Given the description of an element on the screen output the (x, y) to click on. 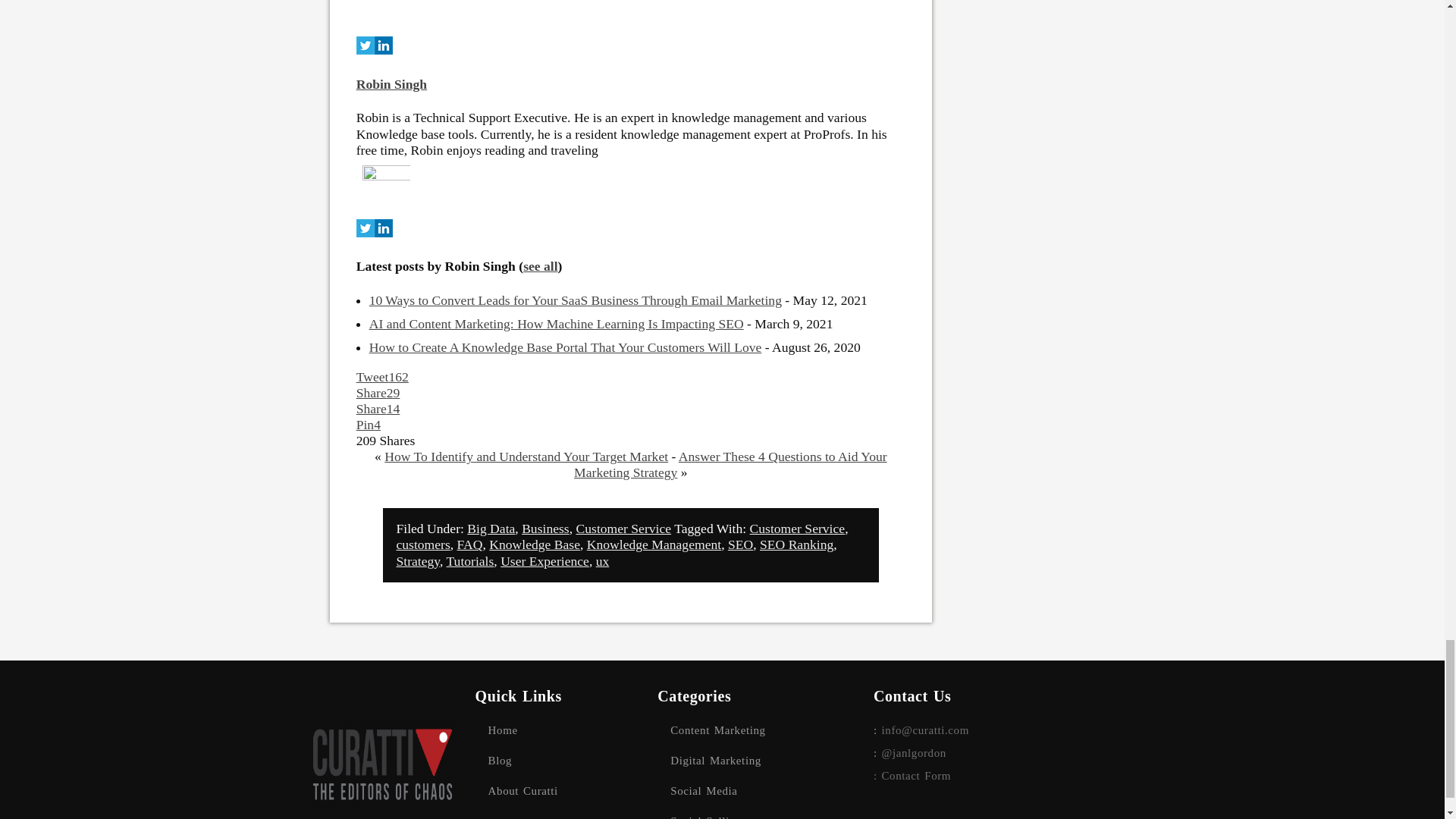
see all (539, 271)
Robin Singh (391, 89)
